Given the description of an element on the screen output the (x, y) to click on. 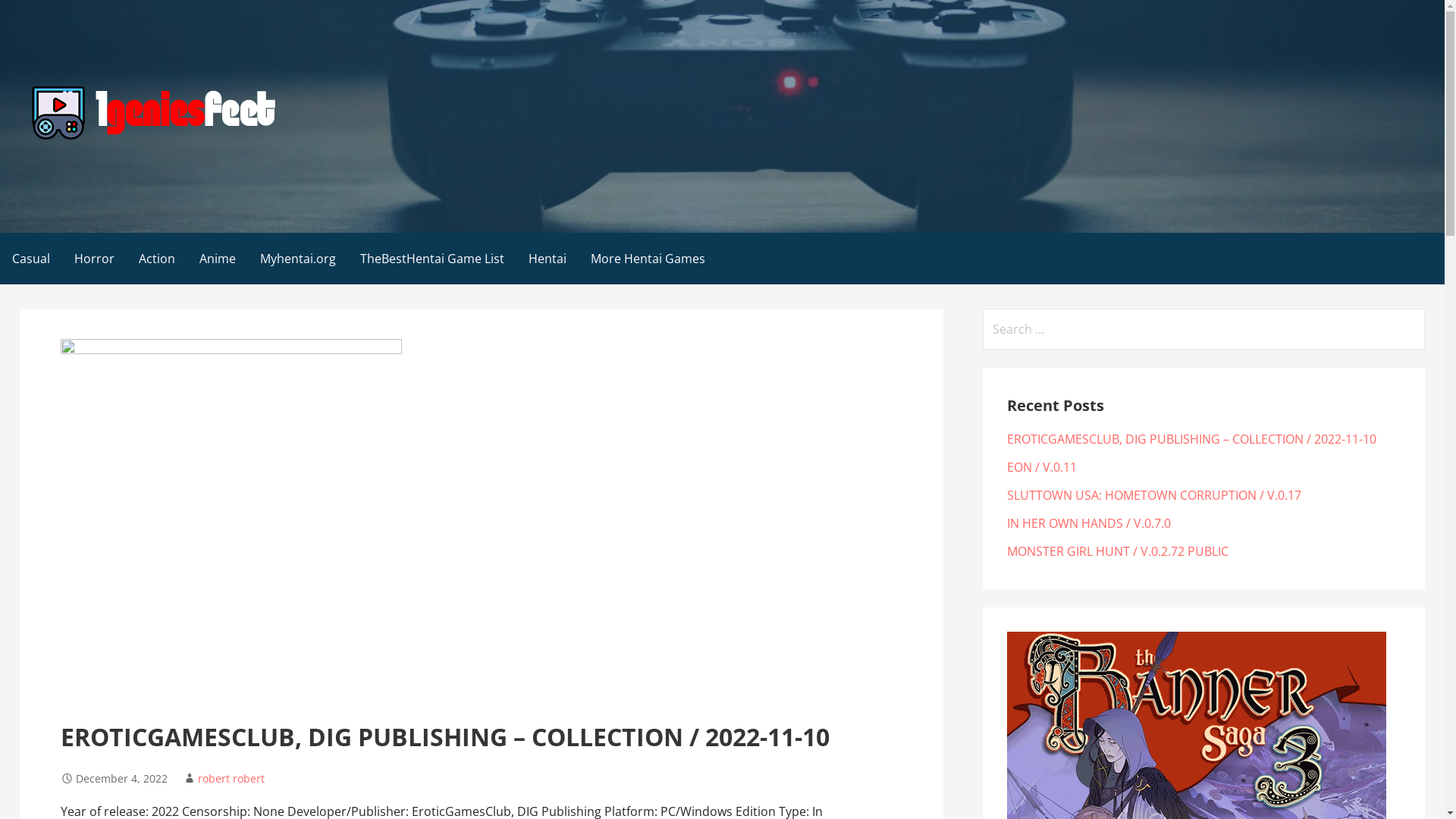
Search Element type: text (31, 15)
Myhentai.org Element type: text (297, 257)
Hentai Element type: text (547, 257)
Action Element type: text (156, 257)
Casual Element type: text (31, 257)
Collection XXX Games on PC - 1geniesfeet.com Element type: text (292, 164)
Anime Element type: text (217, 257)
Horror Element type: text (94, 257)
TheBestHentai Game List Element type: text (432, 257)
IN HER OWN HANDS / V.0.7.0 Element type: text (1088, 522)
SLUTTOWN USA: HOMETOWN CORRUPTION / V.0.17 Element type: text (1154, 494)
robert robert Element type: text (230, 778)
EON / V.0.11 Element type: text (1041, 466)
MONSTER GIRL HUNT / V.0.2.72 PUBLIC Element type: text (1117, 550)
More Hentai Games Element type: text (647, 257)
